Given the description of an element on the screen output the (x, y) to click on. 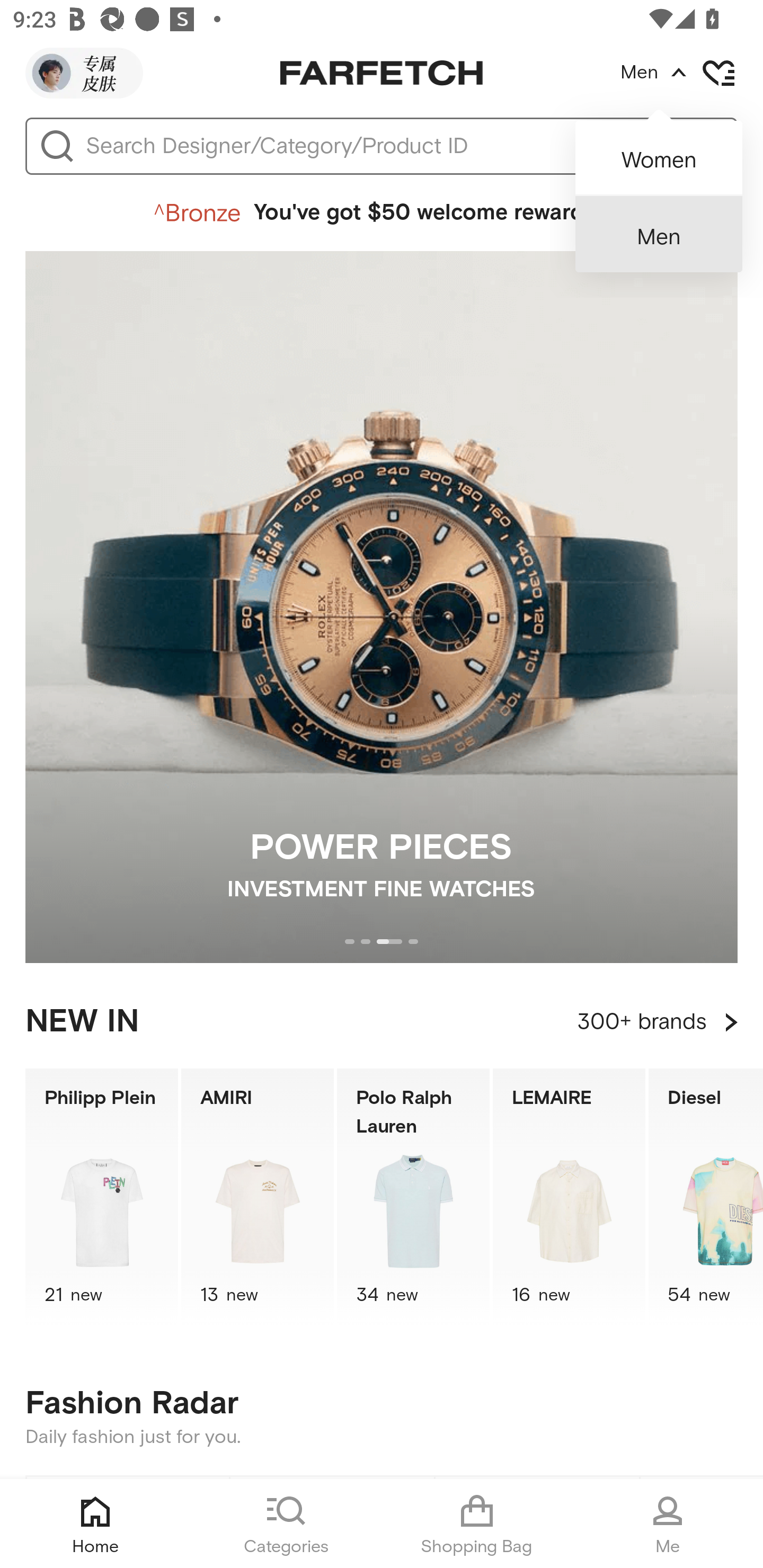
Women (658, 151)
Men (658, 234)
